Given the description of an element on the screen output the (x, y) to click on. 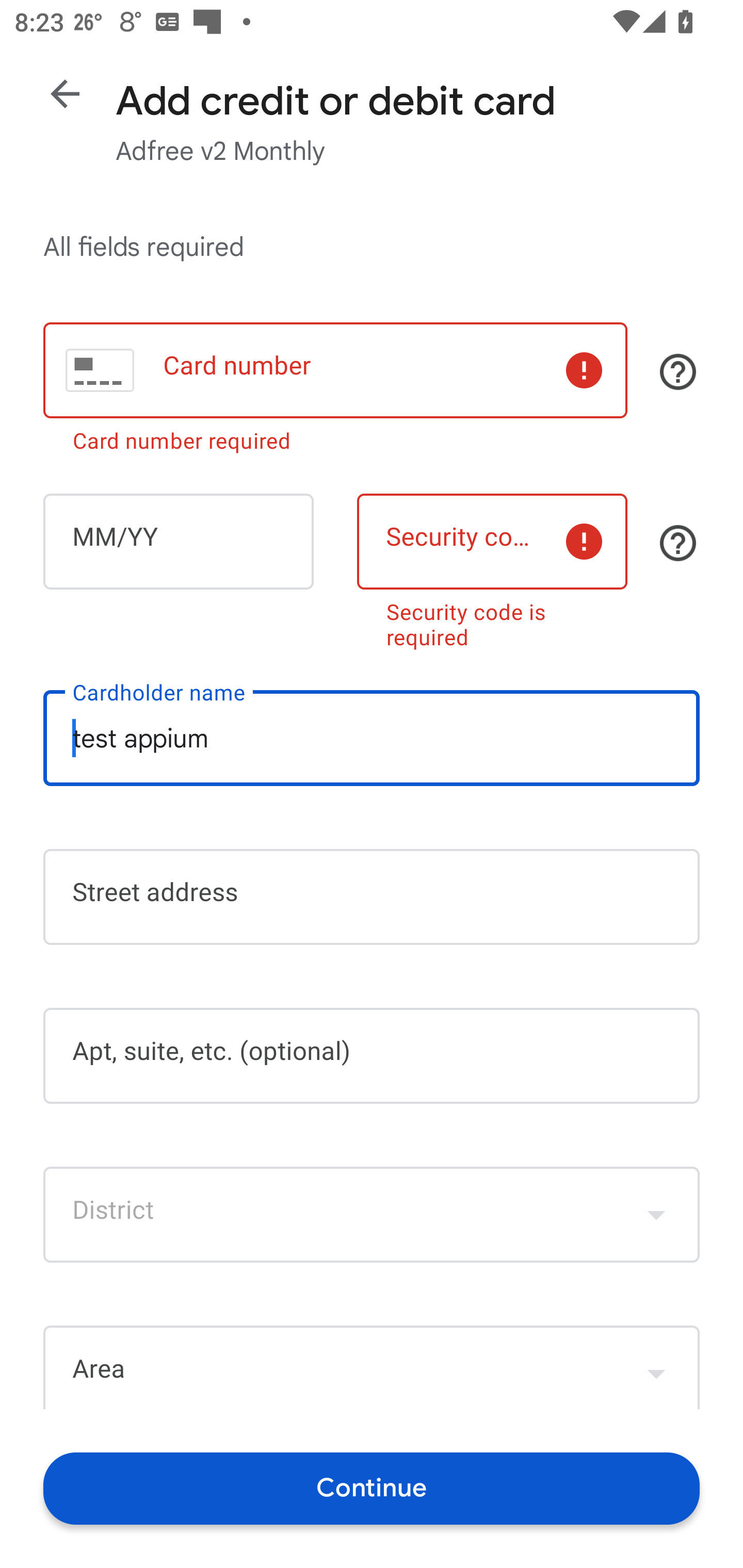
Back (64, 93)
Card number (335, 370)
Button, shows cards that are accepted for payment (677, 371)
Security code Error Security code is required (492, 567)
Expiration date, 2 digit month, 2 digit year (178, 541)
Security code (492, 541)
Security code help (677, 543)
test appium (371, 737)
Street address (371, 896)
Apt, suite, etc. (optional) (371, 1055)
District (371, 1214)
Show dropdown menu (655, 1214)
Area (371, 1366)
Show dropdown menu (655, 1369)
Continue (371, 1487)
